Given the description of an element on the screen output the (x, y) to click on. 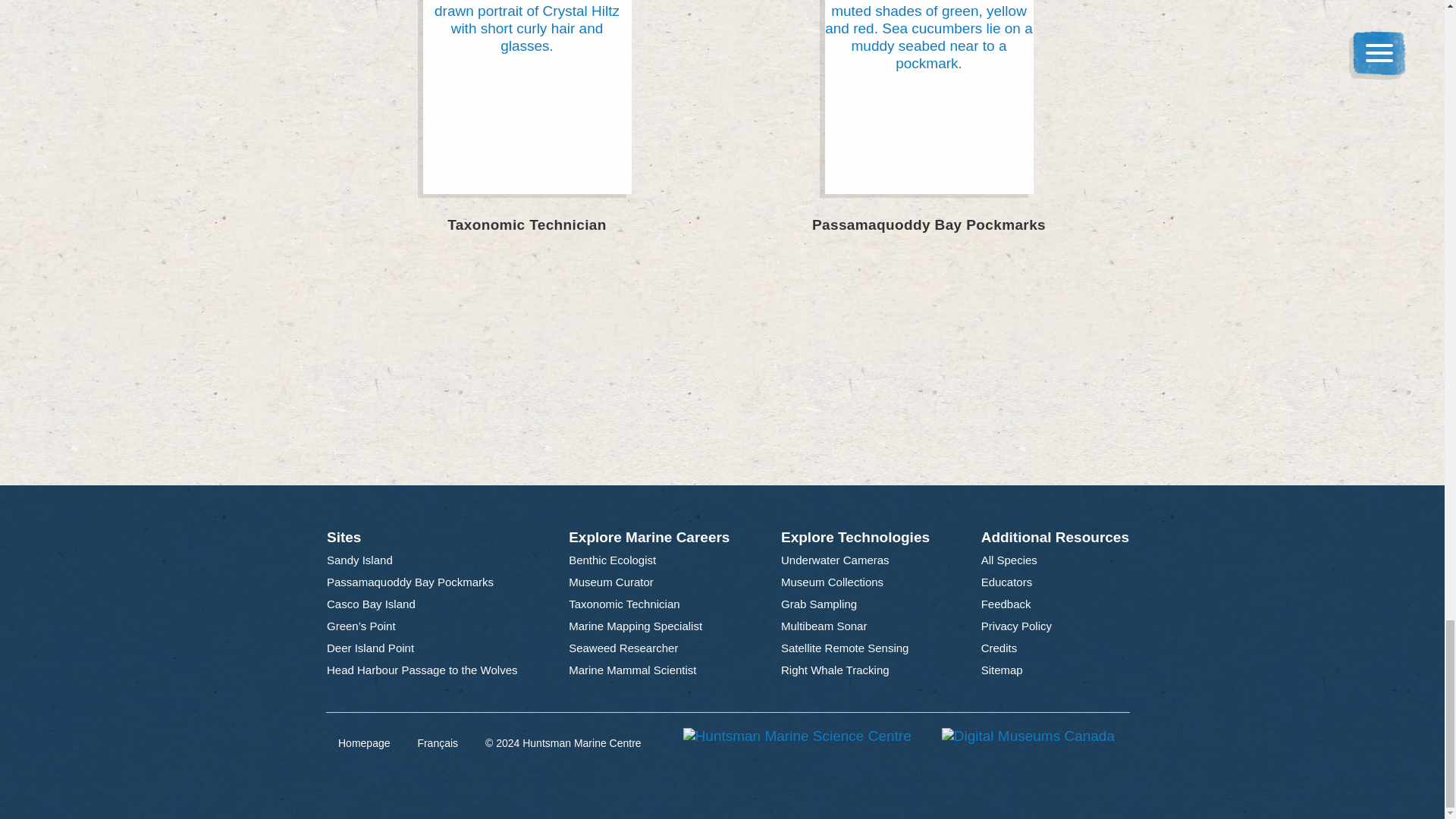
Passamaquoddy Bay Pockmarks (410, 582)
BACK TO TOP (727, 445)
Passamaquoddy Bay Pockmarks (928, 128)
Taxonomic Technician (526, 128)
BACK TO TOP (727, 445)
Casco Bay Island (371, 604)
Sandy Island (359, 560)
